Given the description of an element on the screen output the (x, y) to click on. 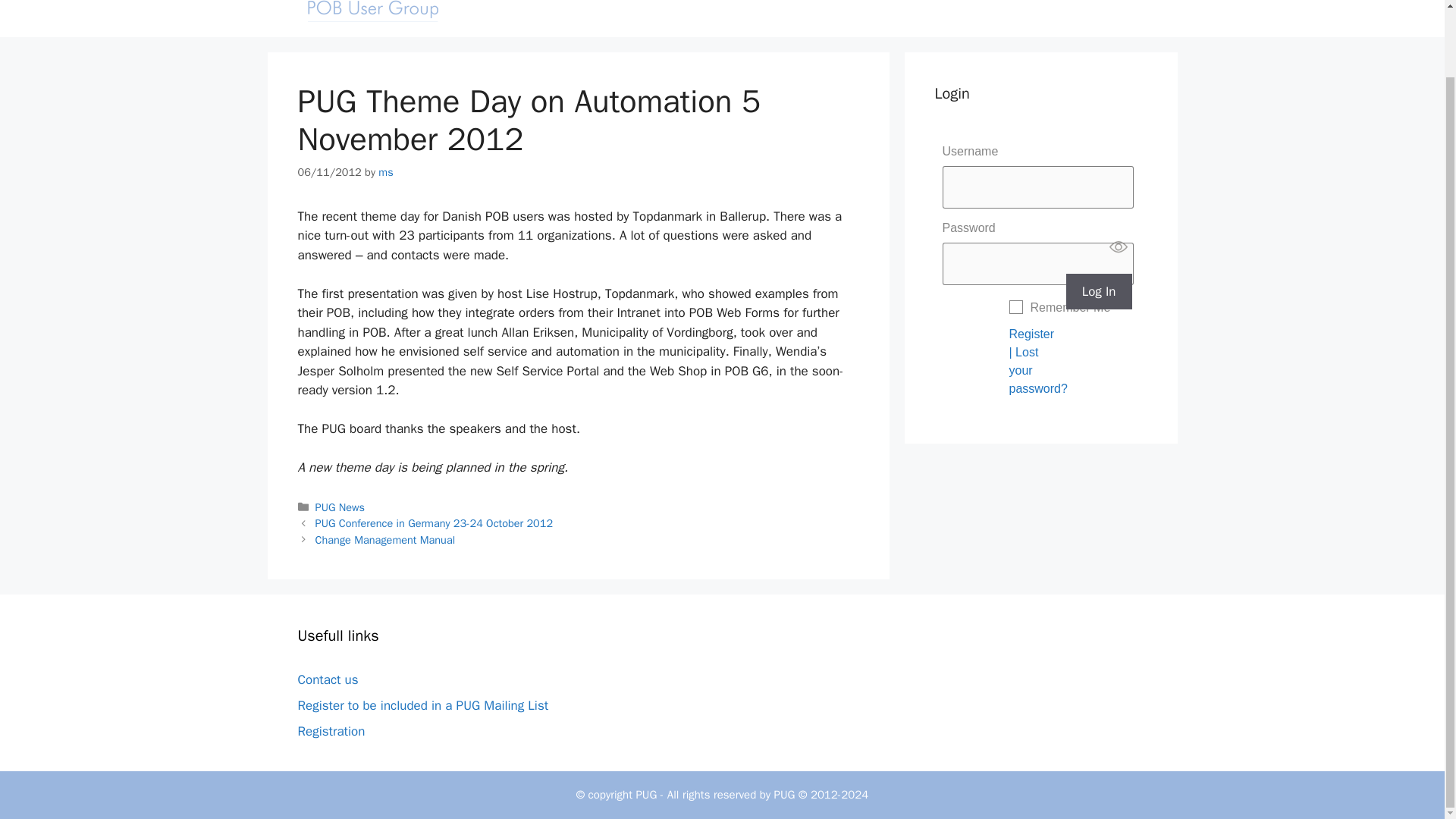
View all posts by ms (385, 172)
Register to be included in a PUG Mailing List (422, 705)
PUG Info (1015, 3)
Register (1031, 333)
Contact Us (1104, 3)
Change Management Manual (385, 540)
Contact us (327, 679)
ms (385, 172)
PUG Events (915, 3)
Log In (1098, 290)
